Given the description of an element on the screen output the (x, y) to click on. 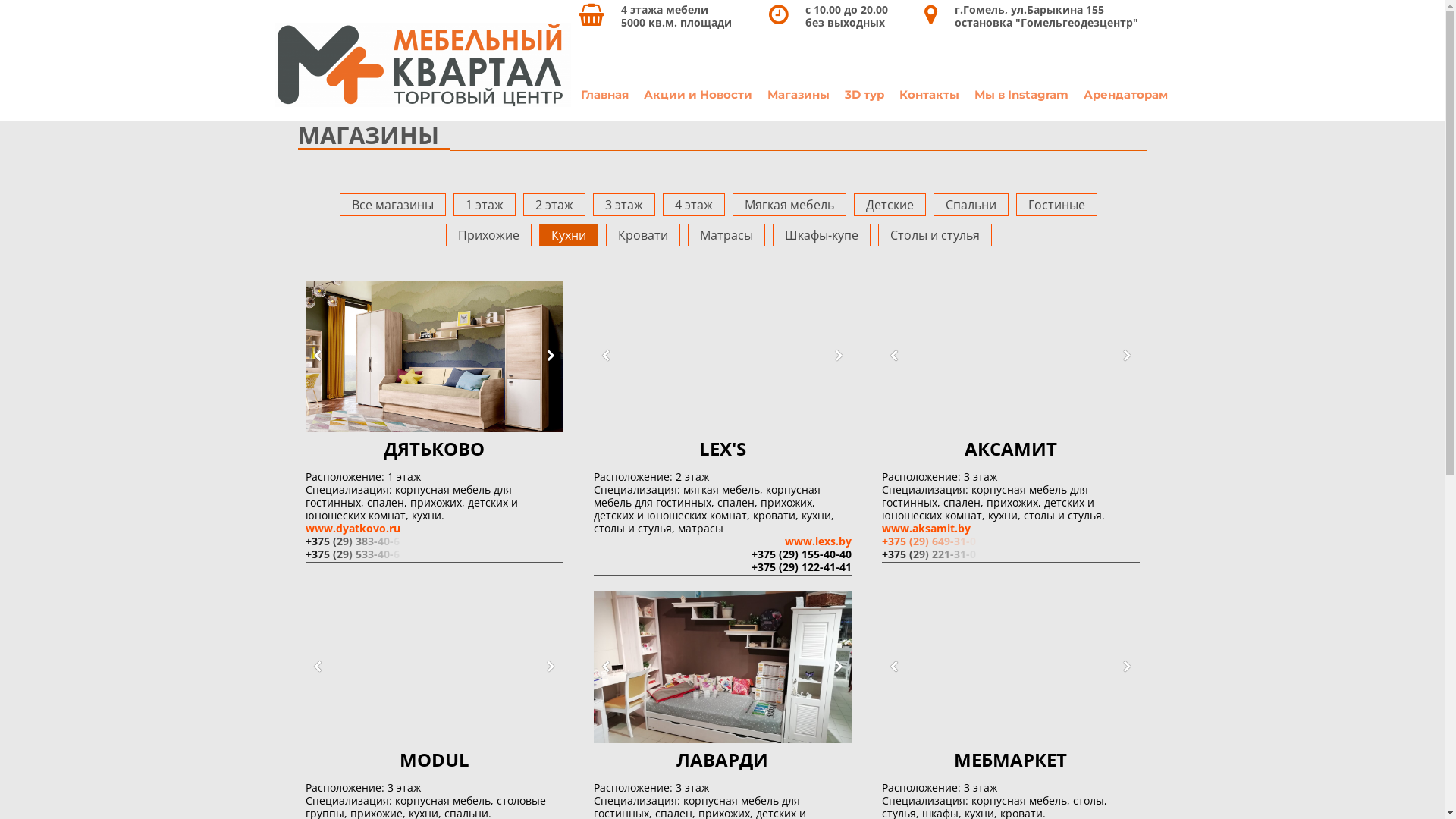
www.lexs.by Element type: text (817, 540)
+375 (29) 533-40-6 Element type: text (354, 553)
www.dyatkovo.ru Element type: text (351, 527)
www.aksamit.by Element type: text (925, 527)
+375 (29) 649-31-0 Element type: text (931, 540)
+375 (29) 383-40-6 Element type: text (354, 540)
+375 (29) 221-31-0 Element type: text (931, 553)
